Given the description of an element on the screen output the (x, y) to click on. 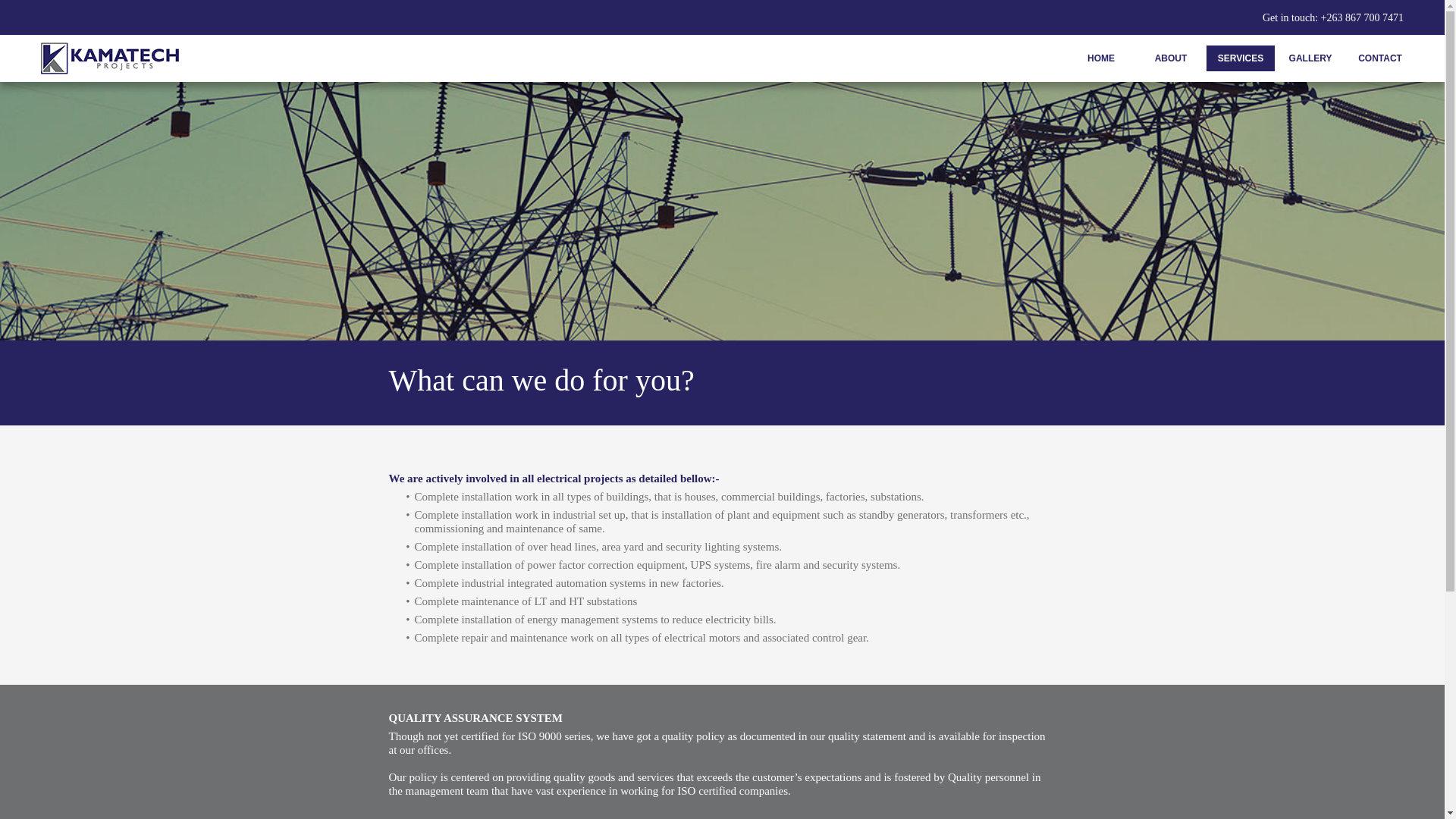
GALLERY (1309, 58)
HOME (1101, 58)
CONTACT (1379, 58)
SERVICES (1241, 58)
ABOUT (1171, 58)
